Given the description of an element on the screen output the (x, y) to click on. 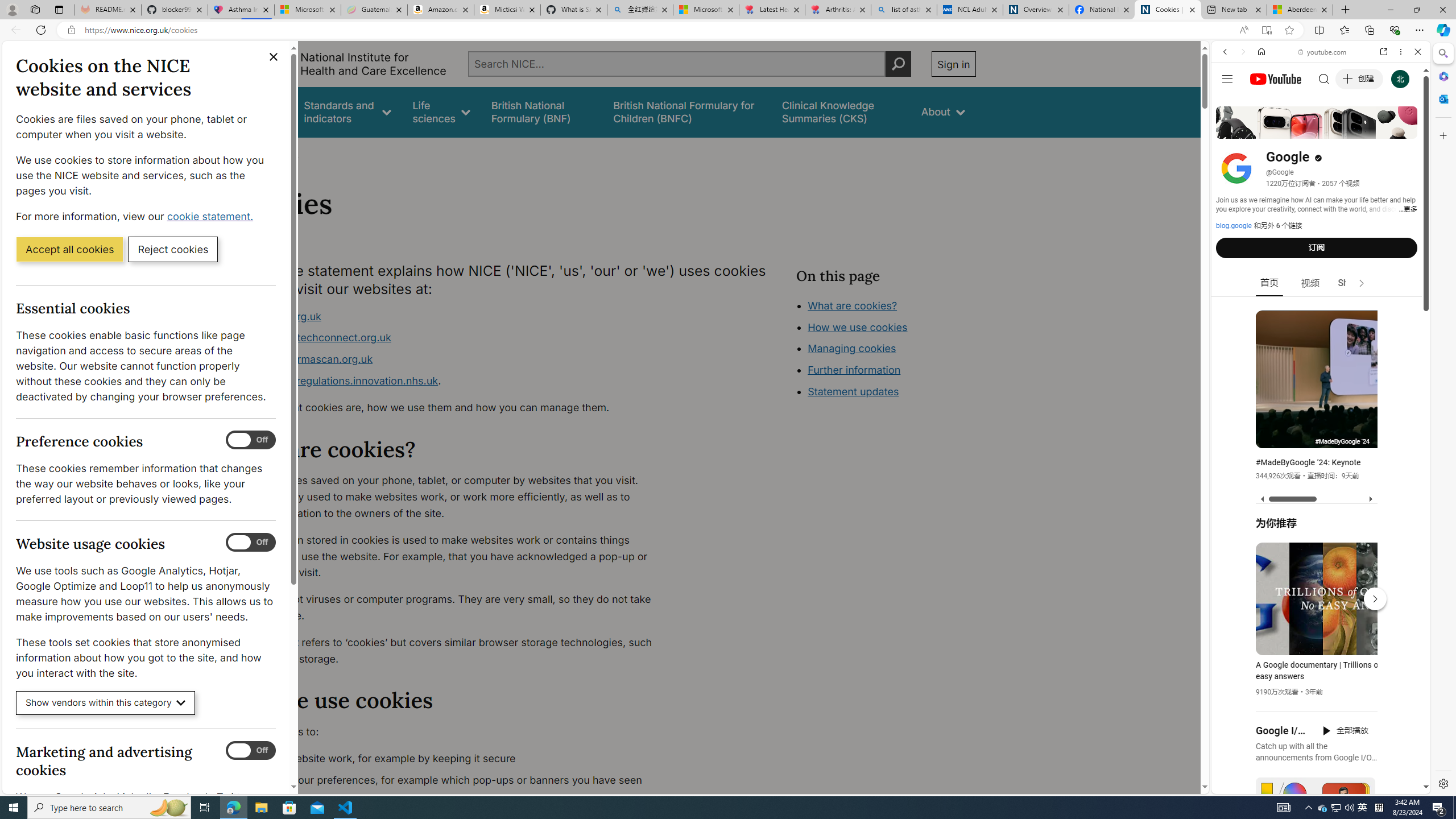
Show vendors within this category (105, 703)
Google (1320, 281)
US[ju] (1249, 785)
About (283, 152)
How we use cookies (896, 389)
Google I/O 2024 (1281, 730)
